Given the description of an element on the screen output the (x, y) to click on. 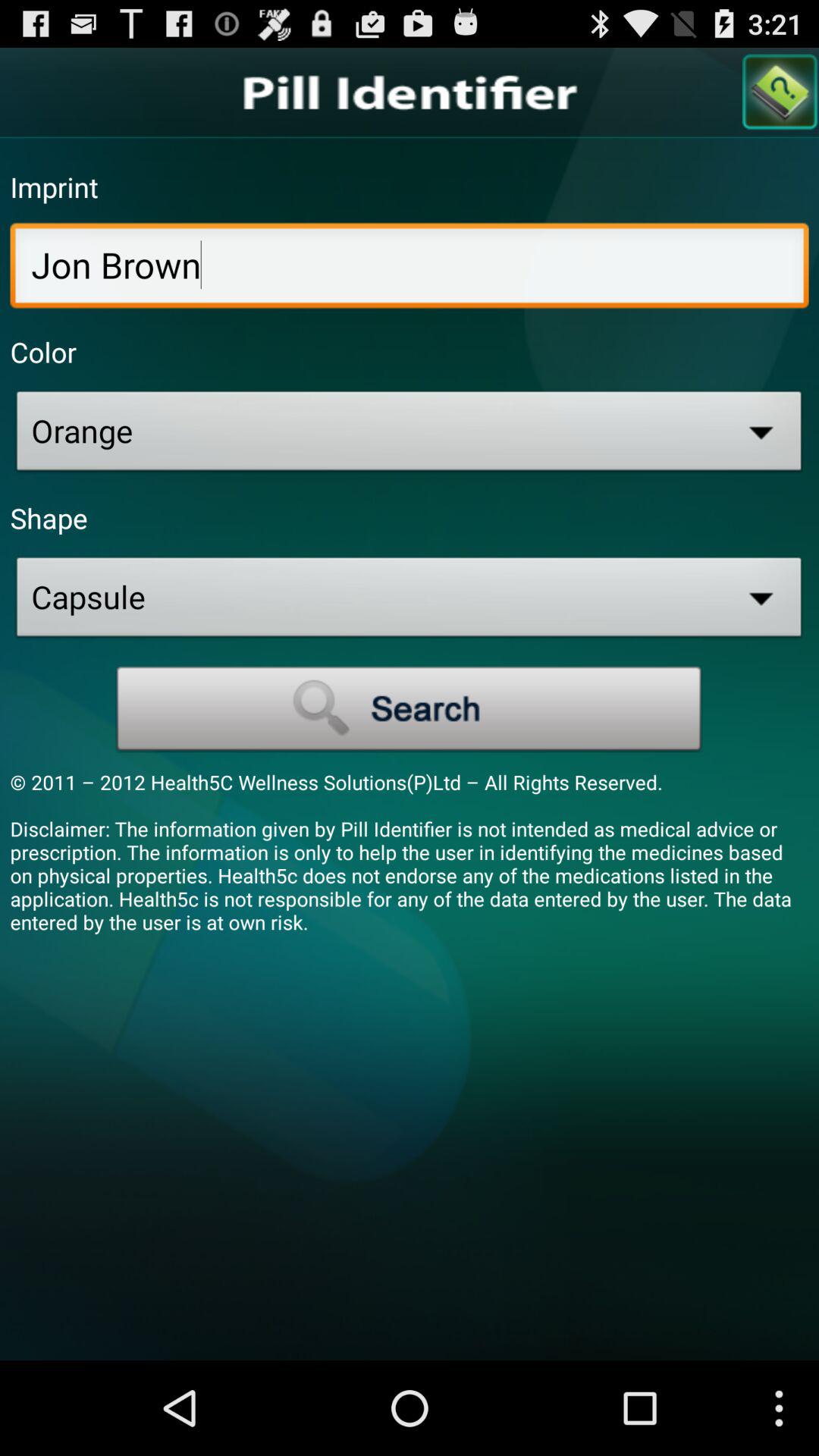
question icon (780, 92)
